Given the description of an element on the screen output the (x, y) to click on. 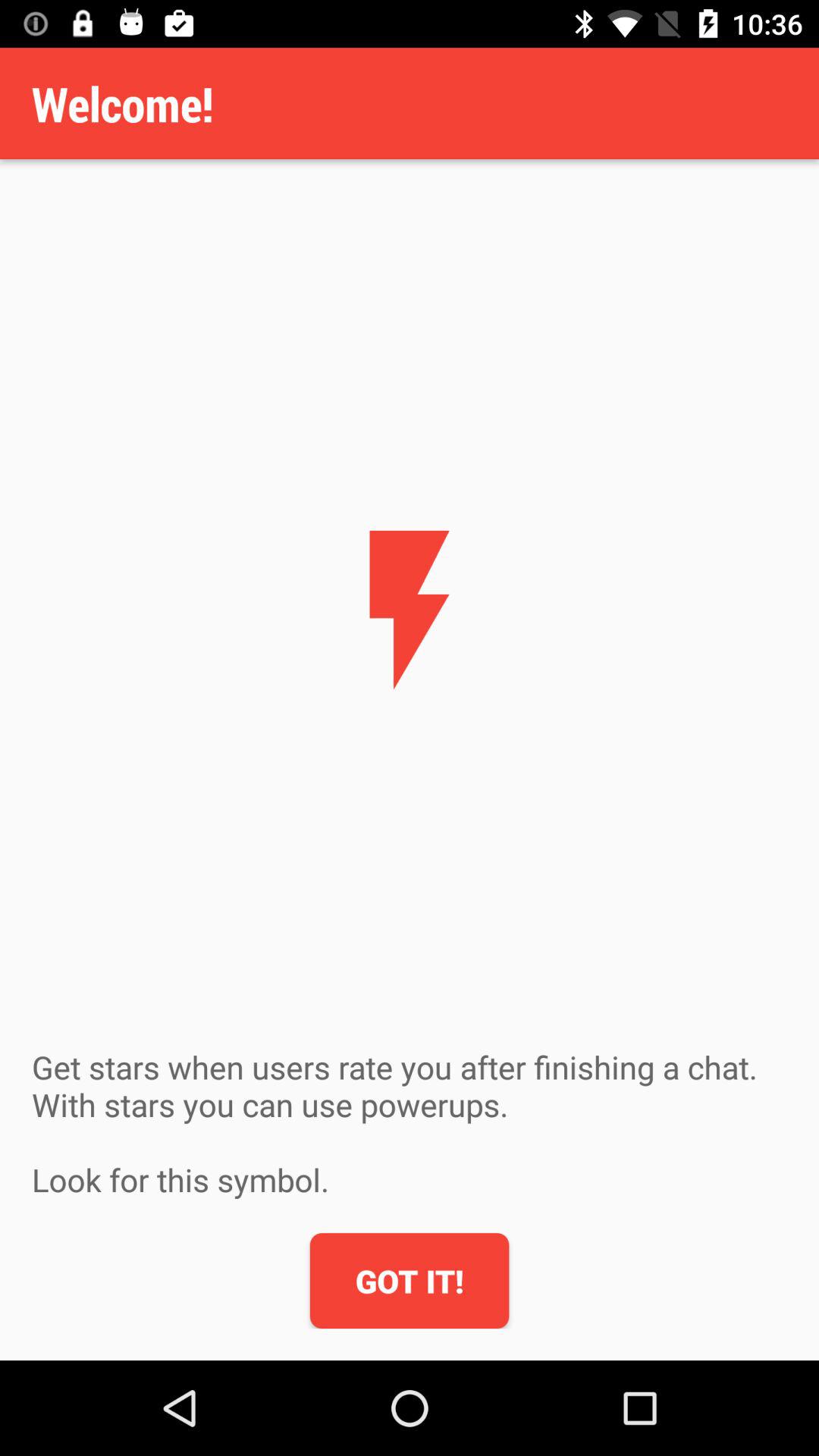
launch got it! icon (409, 1280)
